Given the description of an element on the screen output the (x, y) to click on. 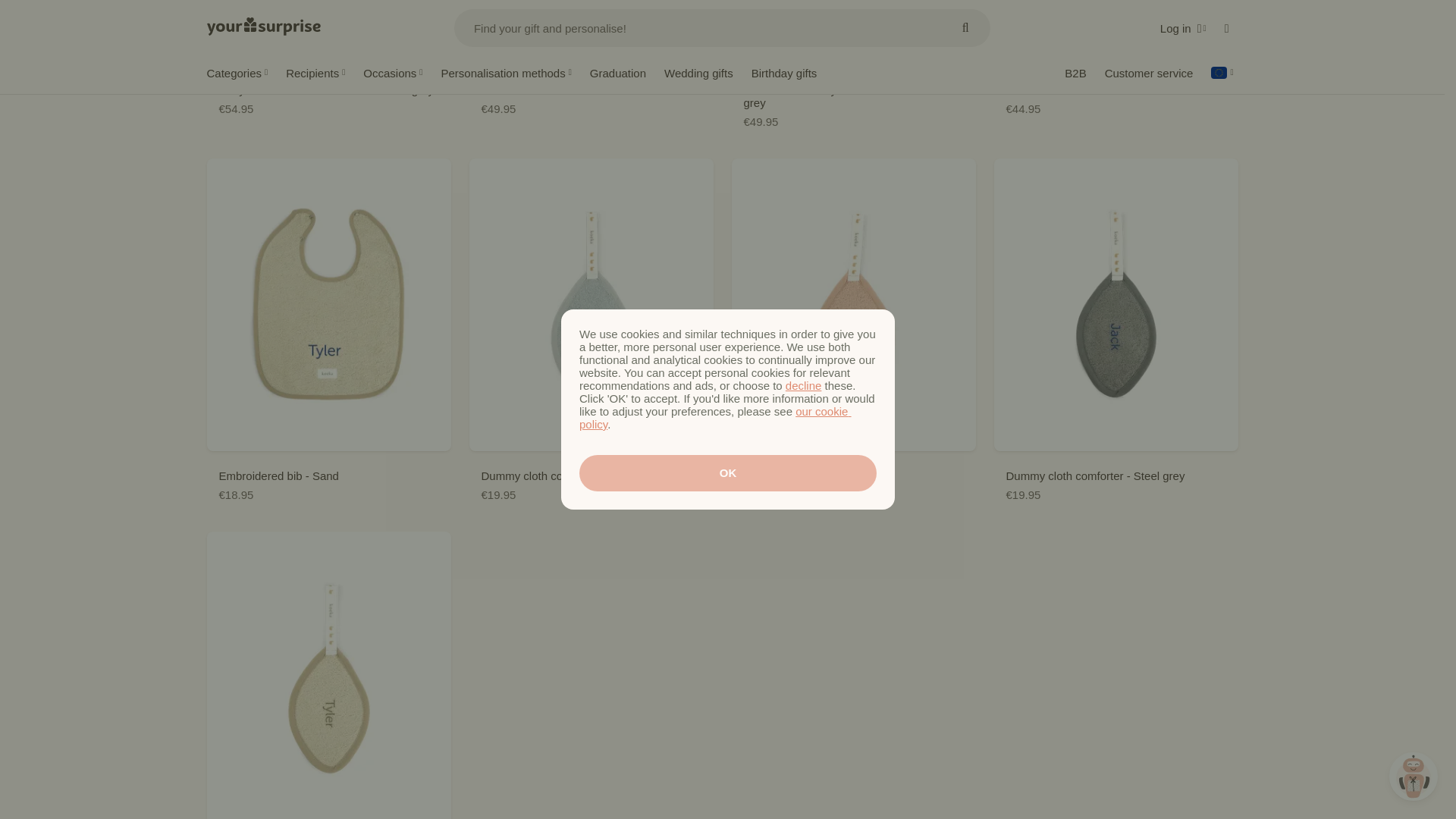
Embroidered cot sheet - Ruffle (590, 57)
Baby bath towel - Waffle fabric - Steel grey (327, 57)
Embroidered bassinet sheet - Ruffle (1114, 57)
